Given the description of an element on the screen output the (x, y) to click on. 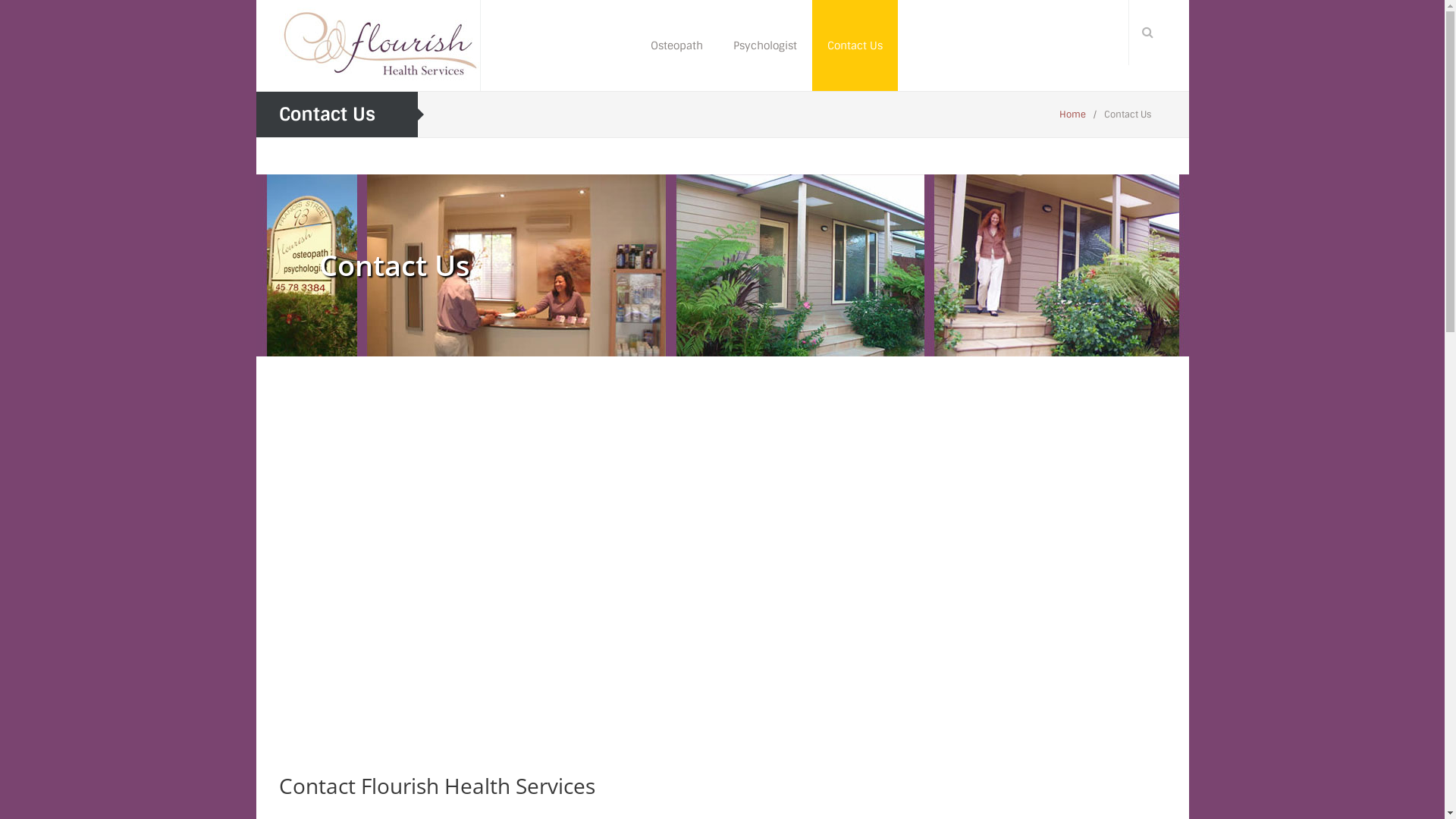
Home Element type: text (1071, 114)
Contact Us Element type: text (854, 45)
Osteopath Element type: text (676, 45)
Psychologist Element type: text (764, 45)
